Given the description of an element on the screen output the (x, y) to click on. 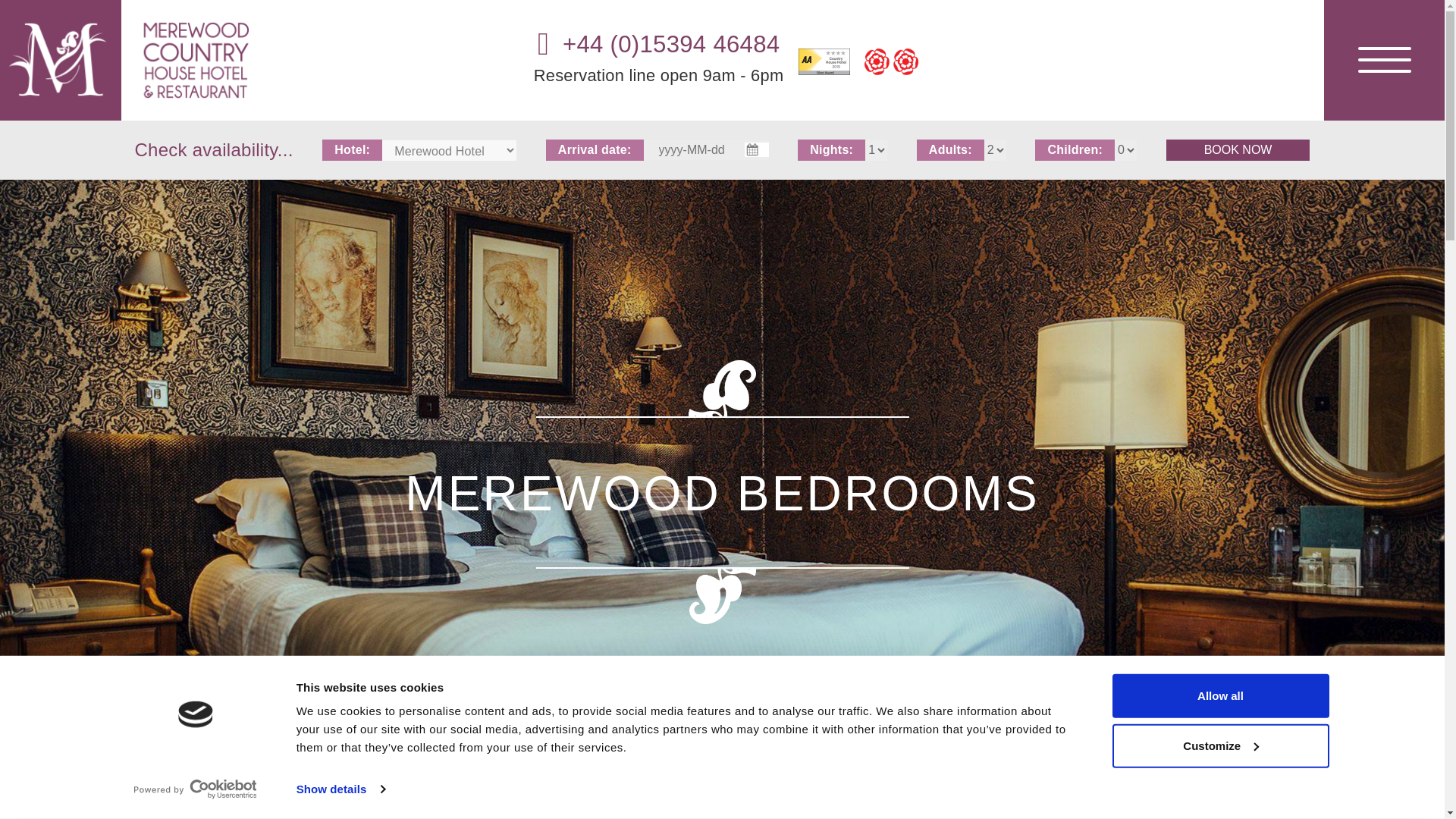
Show details (340, 789)
